Given the description of an element on the screen output the (x, y) to click on. 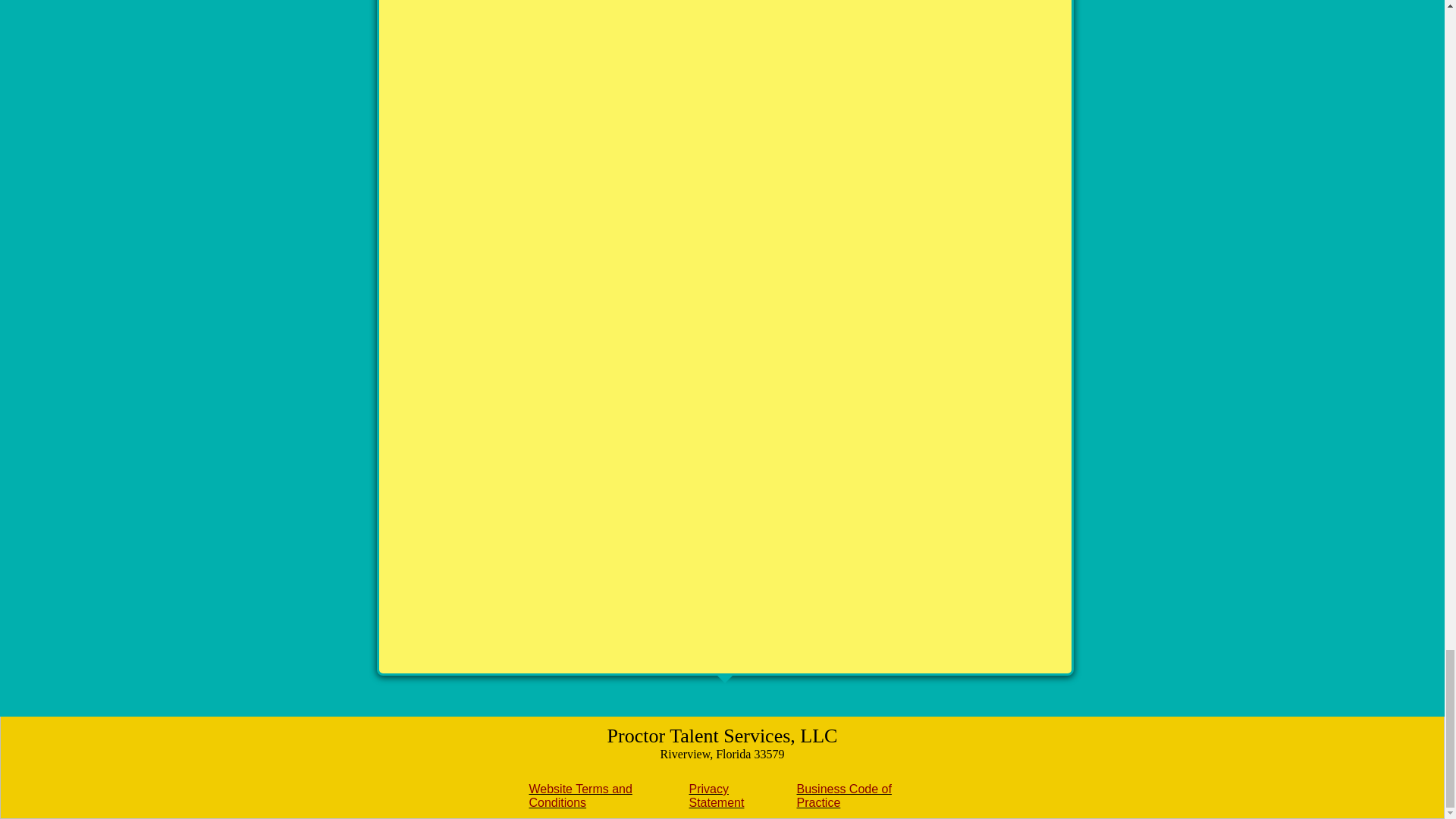
Website Terms and Conditions (580, 795)
Privacy Statement (716, 795)
Business Code of Practice (843, 795)
